Given the description of an element on the screen output the (x, y) to click on. 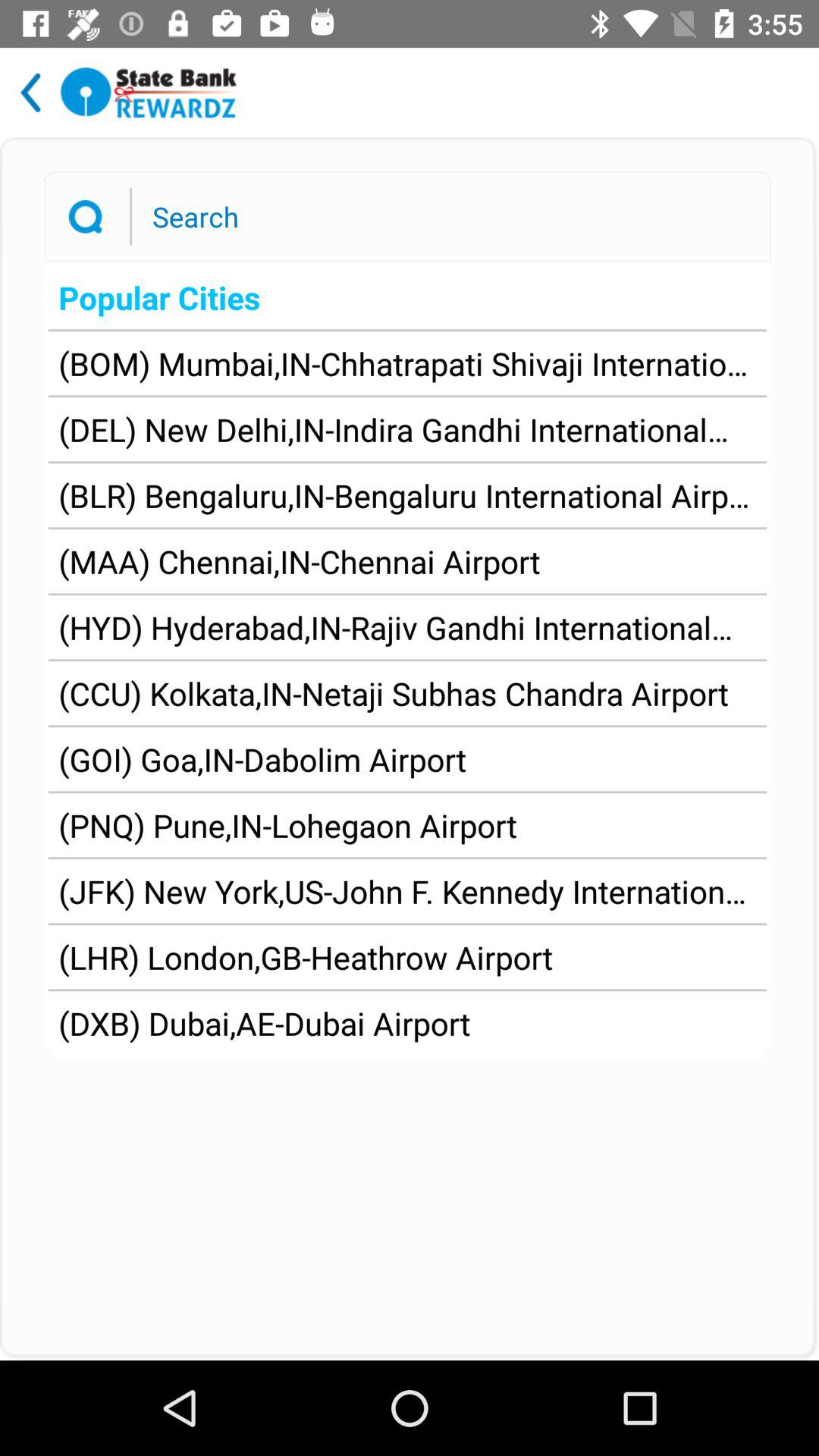
turn off hyd hyderabad in app (407, 626)
